Given the description of an element on the screen output the (x, y) to click on. 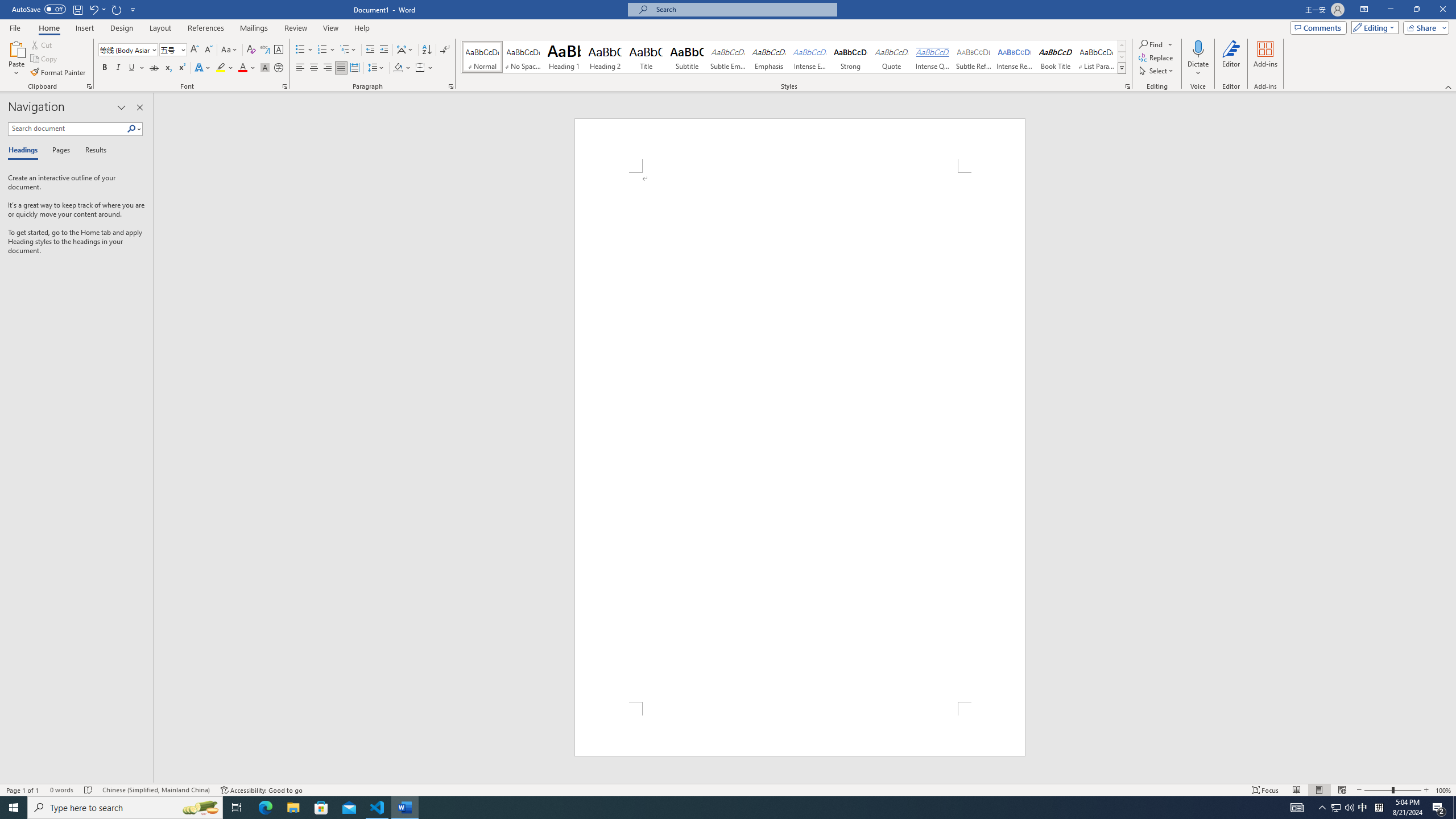
Intense Emphasis (809, 56)
Subtle Emphasis (727, 56)
Zoom 100% (1443, 790)
